Given the description of an element on the screen output the (x, y) to click on. 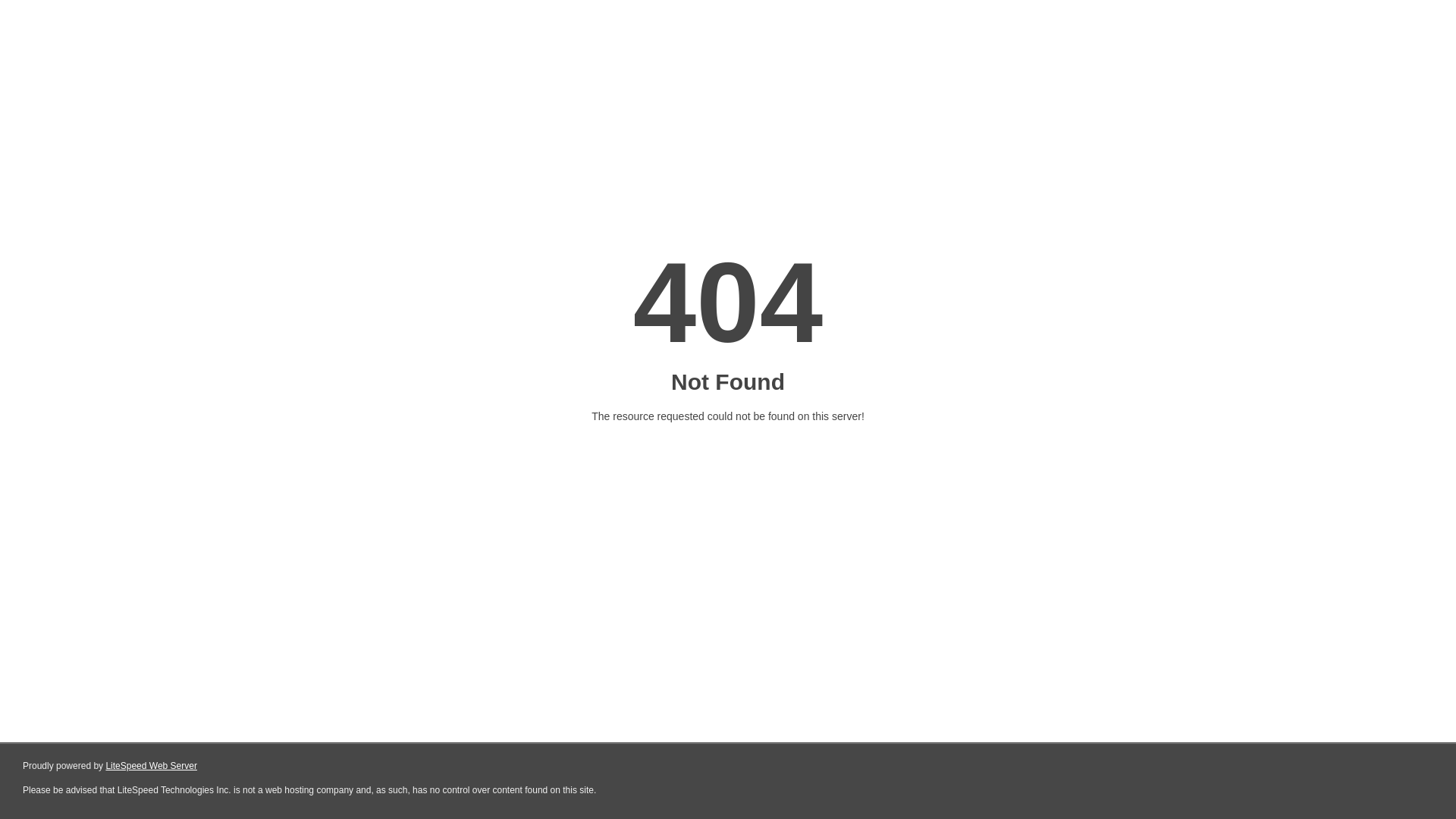
LiteSpeed Web Server Element type: text (151, 765)
